Given the description of an element on the screen output the (x, y) to click on. 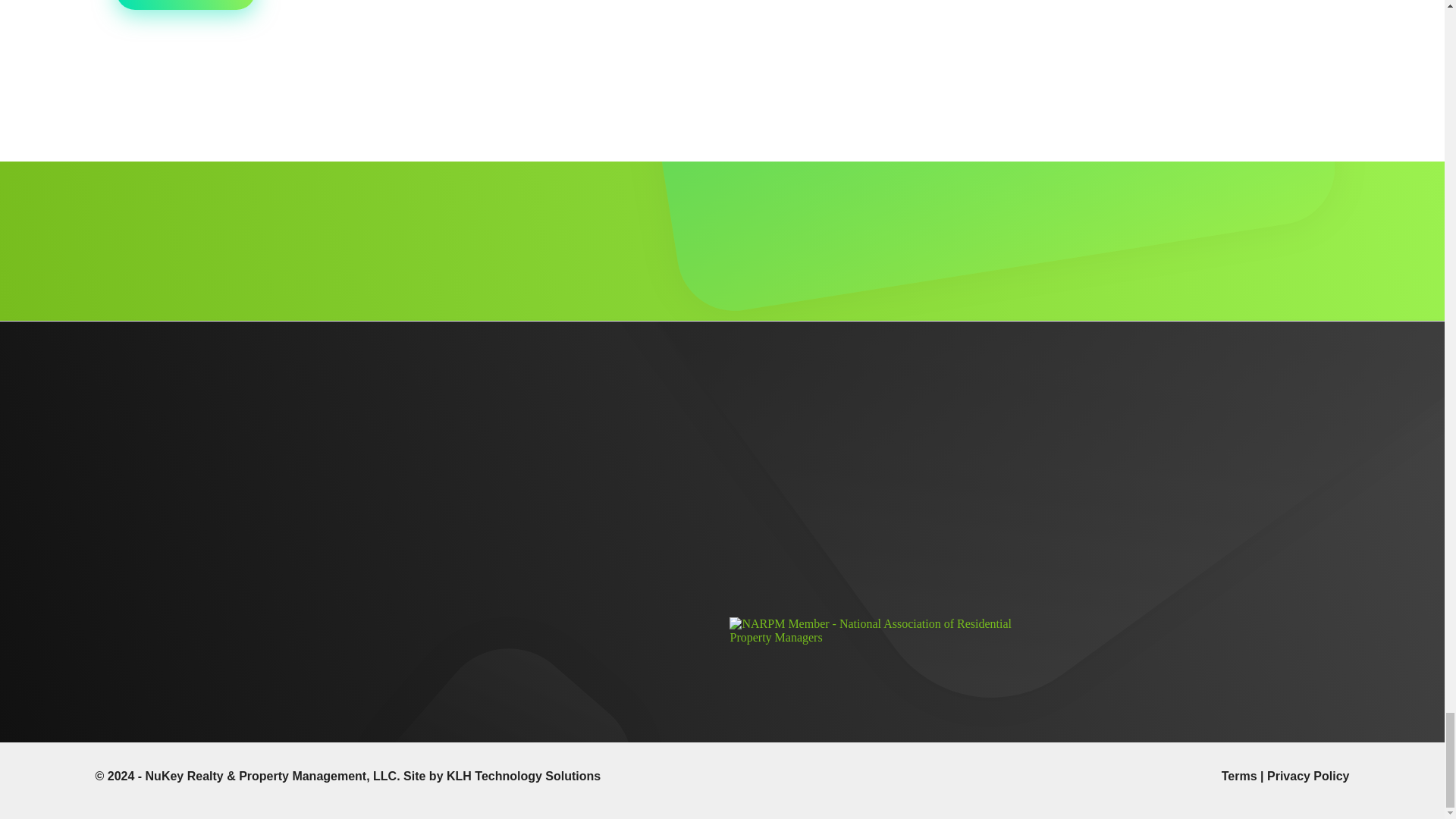
NARPM-member (883, 630)
